Given the description of an element on the screen output the (x, y) to click on. 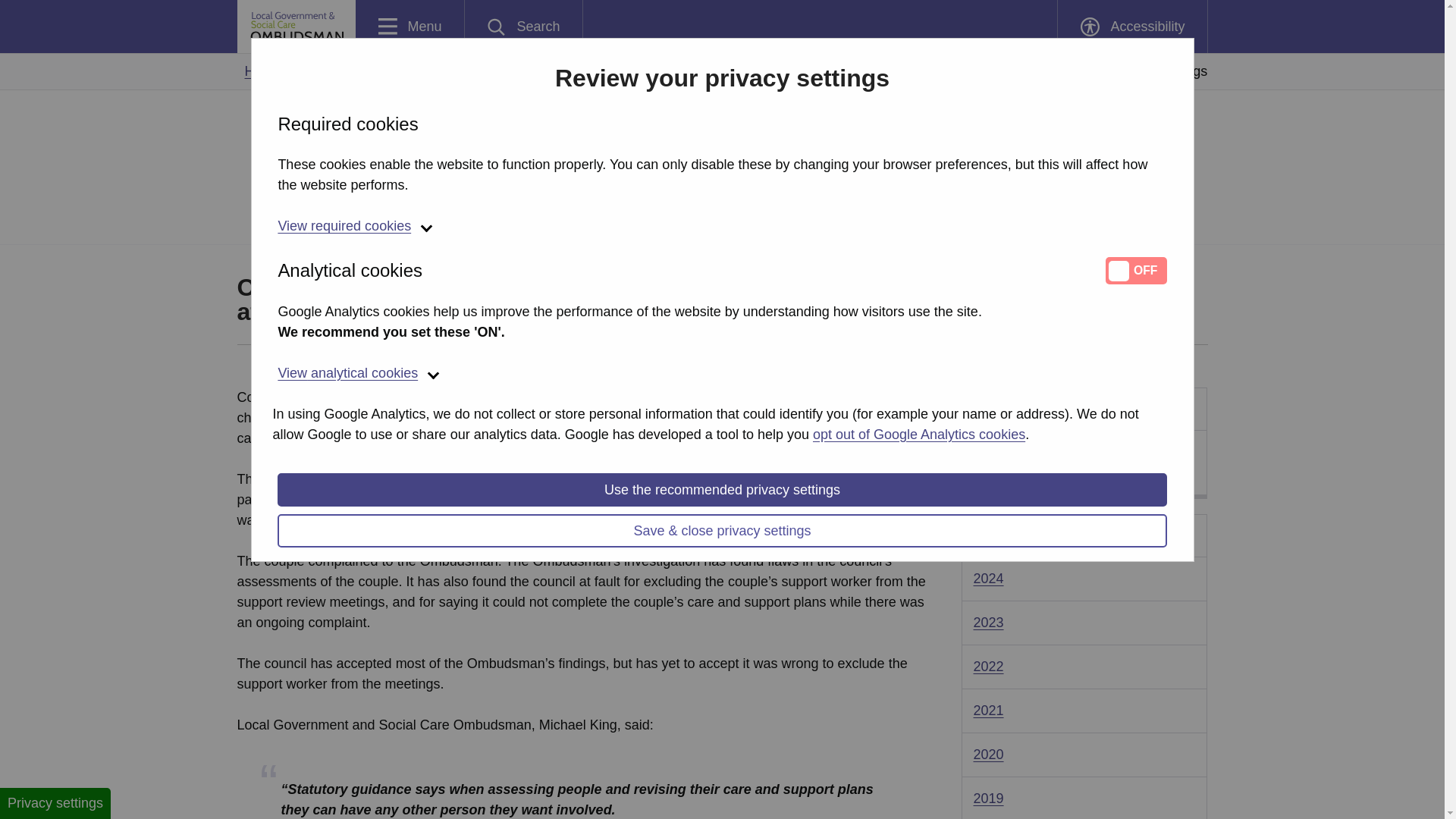
Use the recommended privacy settings (722, 489)
View required cookies (523, 26)
Accessibility (409, 26)
View analytical cookies (722, 226)
opt out of Google Analytics cookies (1132, 26)
